Given the description of an element on the screen output the (x, y) to click on. 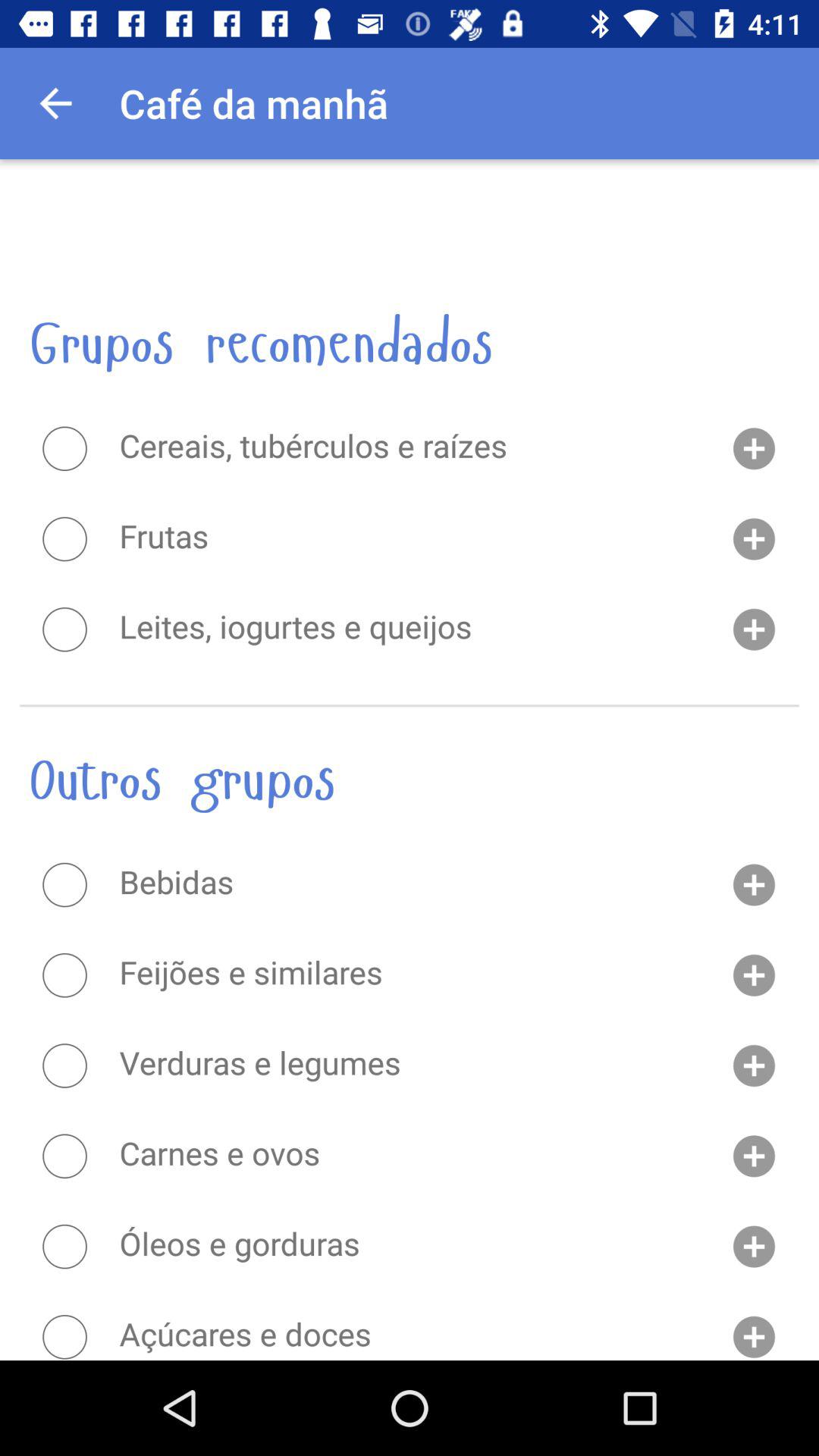
send money (64, 1336)
